Given the description of an element on the screen output the (x, y) to click on. 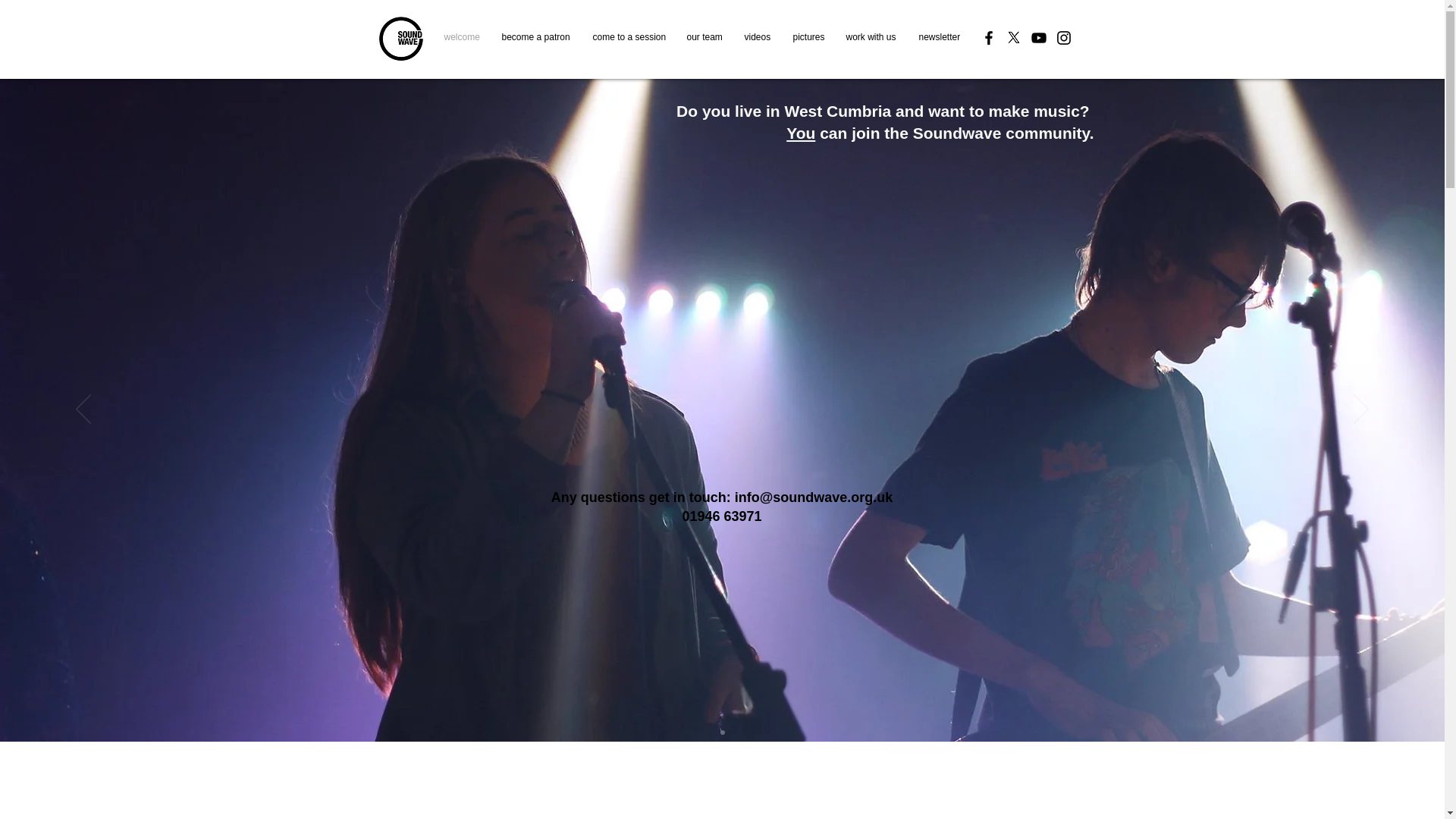
newsletter (937, 36)
work with us (870, 36)
come to a session (627, 36)
become a patron (534, 36)
videos (756, 36)
pictures (807, 36)
our team (703, 36)
welcome (460, 36)
